Given the description of an element on the screen output the (x, y) to click on. 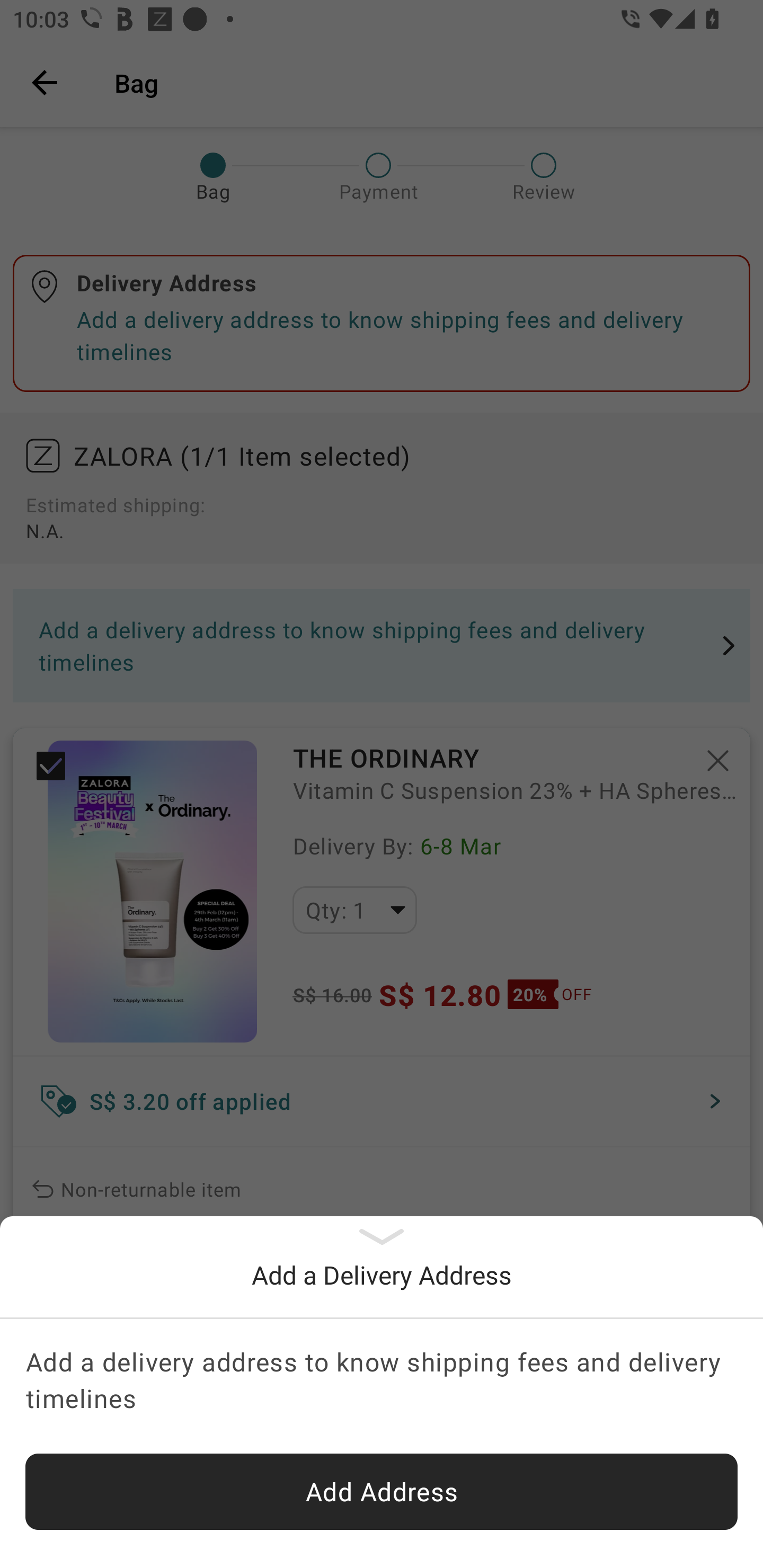
Add Address (381, 1491)
